Given the description of an element on the screen output the (x, y) to click on. 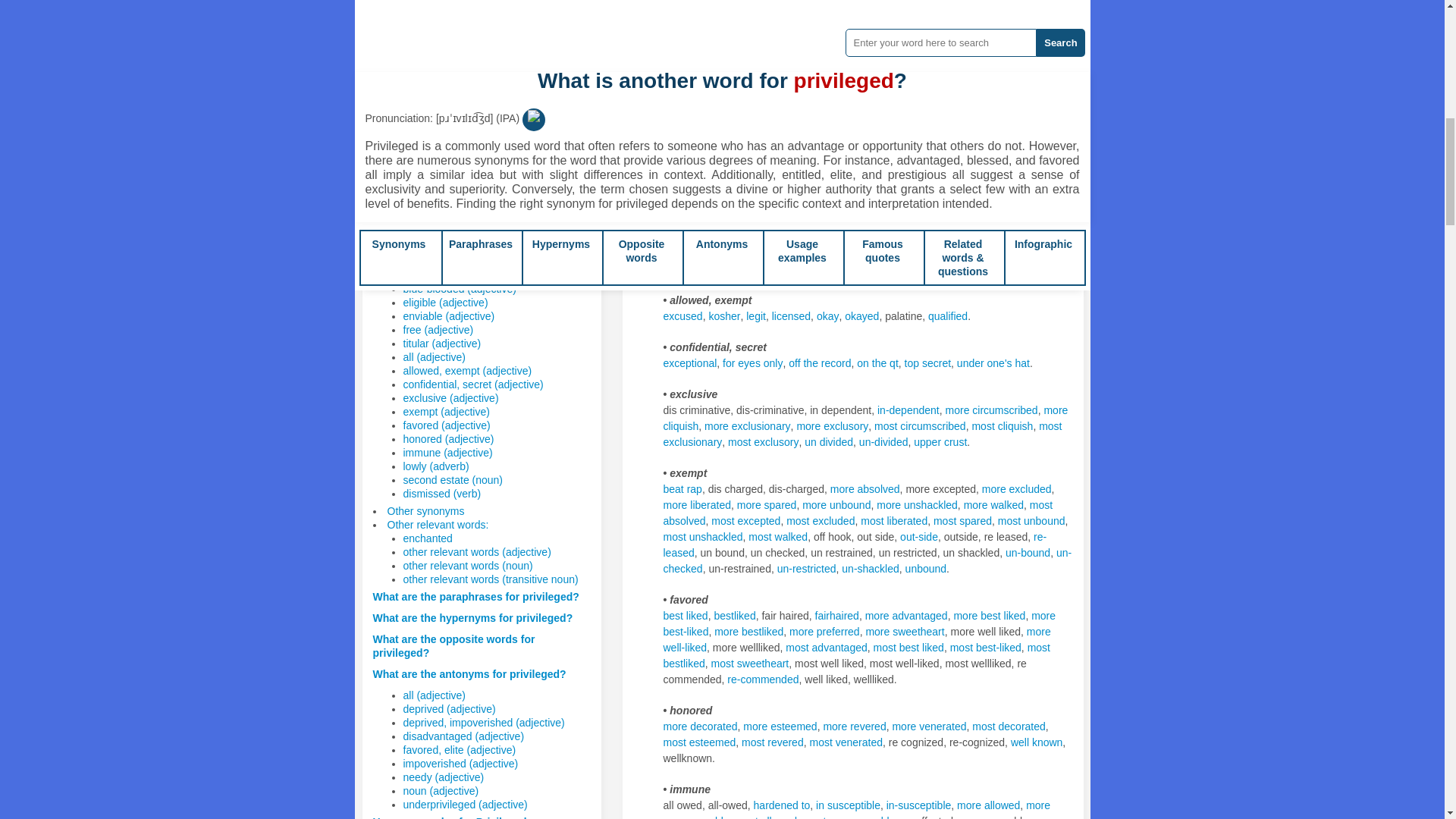
Synonyms for Privileged (684, 268)
What are the opposite words for privileged? (453, 646)
Synonyms for Privileged (723, 316)
Synonyms for Privileged (755, 316)
Synonyms for Privileged (937, 80)
What are the paraphrases for privileged? (475, 596)
Synonyms for Privileged (681, 316)
Synonyms for Privileged (999, 80)
Synonyms for Privileged (742, 80)
What is another word for privileged? (464, 246)
